Given the description of an element on the screen output the (x, y) to click on. 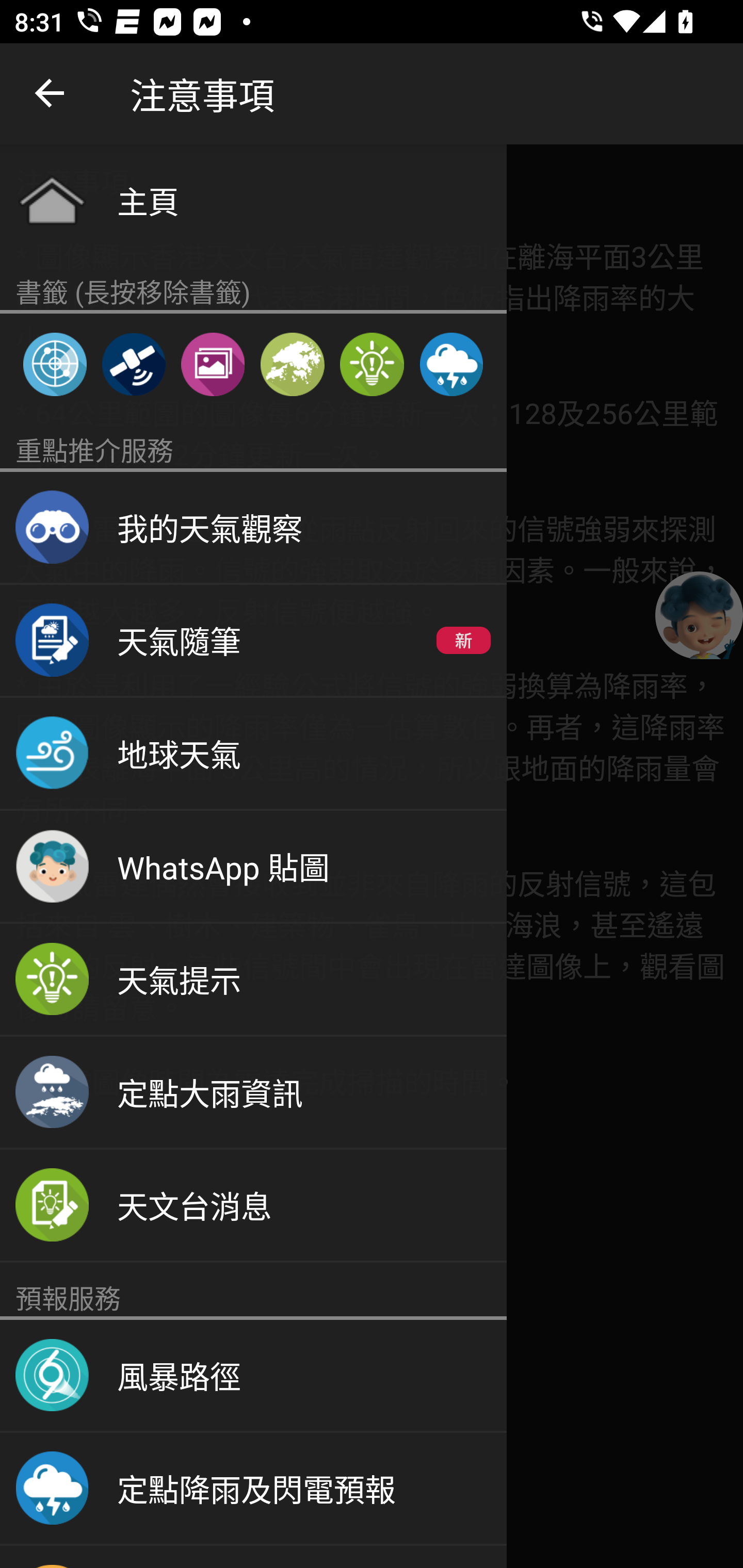
向上瀏覽 (50, 93)
主頁 (253, 199)
雷達圖像 (54, 364)
衛星圖像 (133, 364)
天氣照片 (212, 364)
分區天氣 (292, 364)
天氣提示 (371, 364)
定點降雨及閃電預報 (451, 364)
我的天氣觀察 (253, 527)
天氣隨筆 新功能 (253, 640)
地球天氣 (253, 753)
WhatsApp 貼圖 (253, 866)
天氣提示 (253, 979)
定點大雨資訊 (253, 1092)
天文台消息 (253, 1205)
風暴路徑 (253, 1375)
定點降雨及閃電預報 (253, 1488)
